Given the description of an element on the screen output the (x, y) to click on. 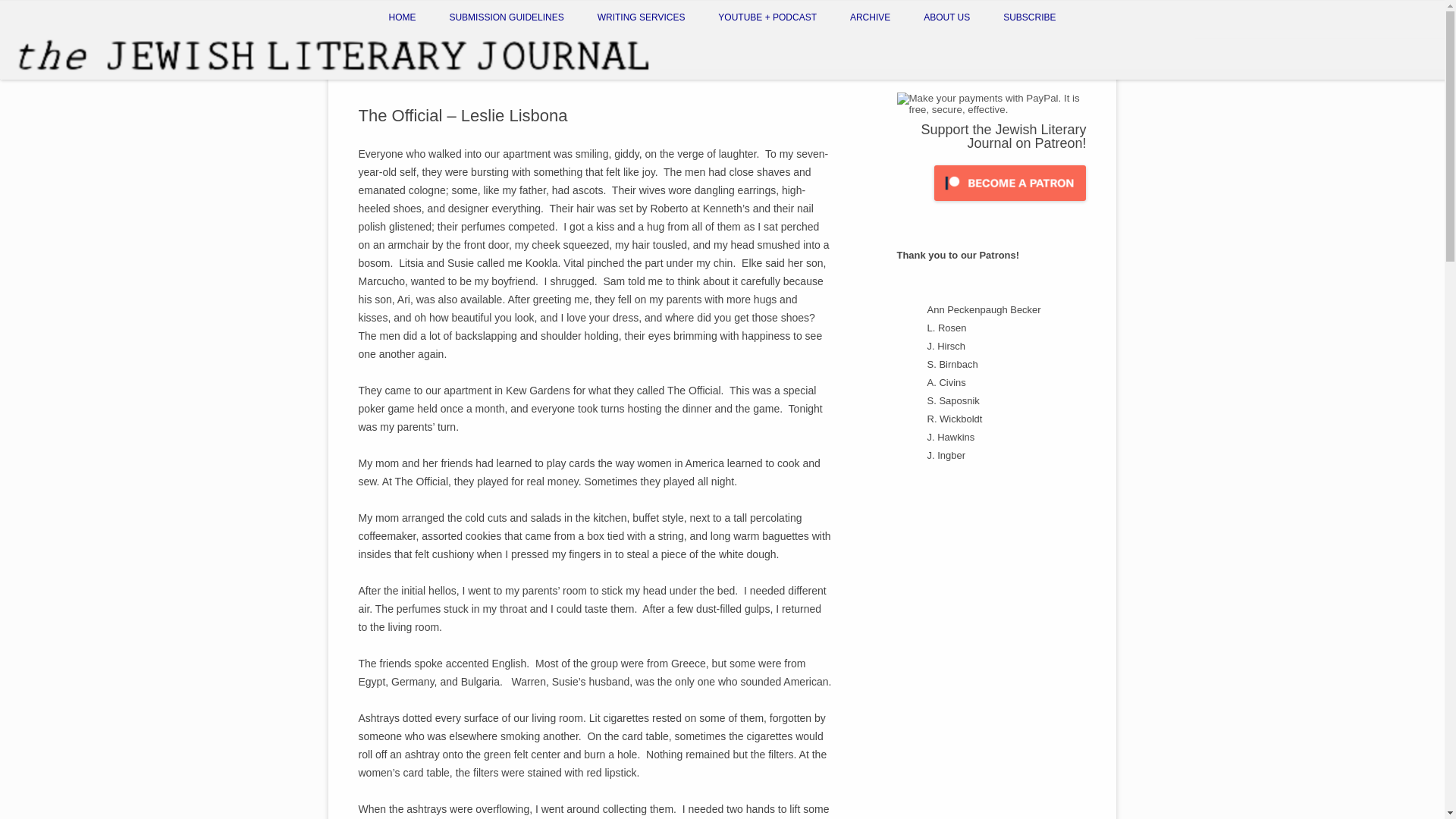
HOME (402, 17)
Skip to content (34, 104)
SUBMISSION GUIDELINES (505, 17)
WRITING SERVICES (640, 17)
ABOUT US (946, 17)
PRESS (999, 49)
Skip to content (34, 104)
SUBSCRIBE (1029, 17)
ARCHIVE (869, 17)
the Jewish Literary Journal (127, 49)
the Jewish Literary Journal (127, 49)
